Given the description of an element on the screen output the (x, y) to click on. 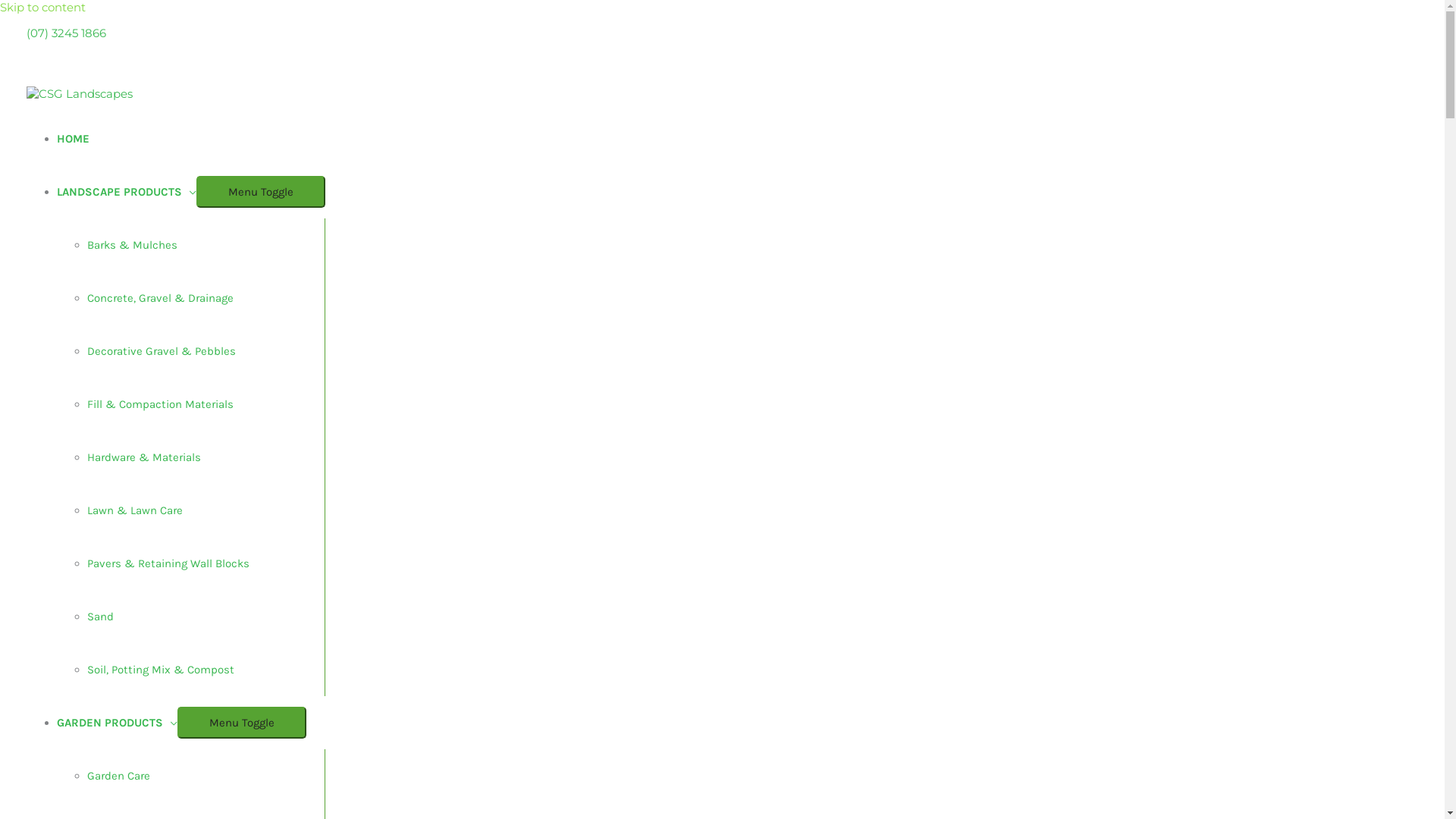
Barks & Mulches Element type: text (132, 244)
Concrete, Gravel & Drainage Element type: text (160, 297)
GARDEN PRODUCTS Element type: text (116, 722)
LANDSCAPE PRODUCTS Element type: text (126, 191)
Menu Toggle Element type: text (241, 722)
HOME Element type: text (72, 138)
Menu Toggle Element type: text (260, 191)
Garden Care Element type: text (118, 775)
Hardware & Materials Element type: text (143, 457)
Skip to content Element type: text (42, 7)
Fill & Compaction Materials Element type: text (160, 404)
Pavers & Retaining Wall Blocks Element type: text (168, 563)
(07) 3245 1866 Element type: text (66, 32)
Sand Element type: text (100, 616)
Decorative Gravel & Pebbles Element type: text (161, 350)
Lawn & Lawn Care Element type: text (134, 510)
Soil, Potting Mix & Compost Element type: text (160, 669)
